Given the description of an element on the screen output the (x, y) to click on. 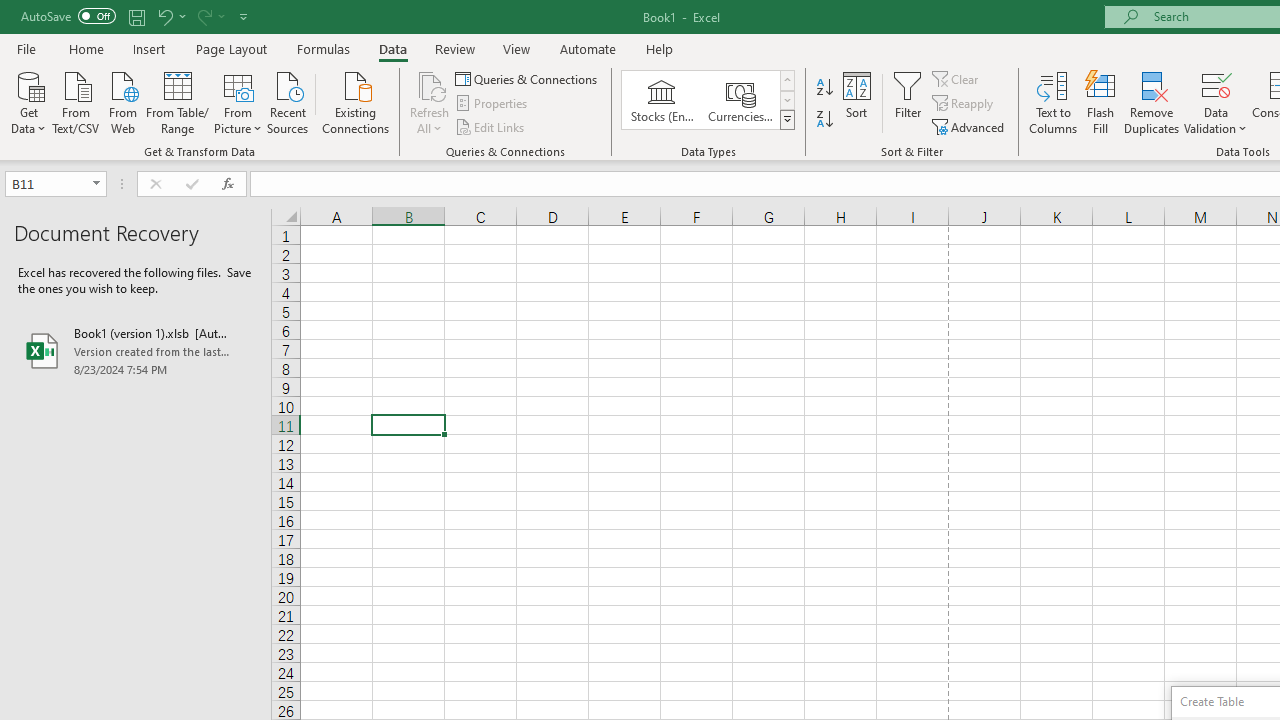
Clear (957, 78)
Text to Columns... (1053, 102)
Sort... (856, 102)
Properties (492, 103)
Currencies (English) (740, 100)
Reapply (964, 103)
